Given the description of an element on the screen output the (x, y) to click on. 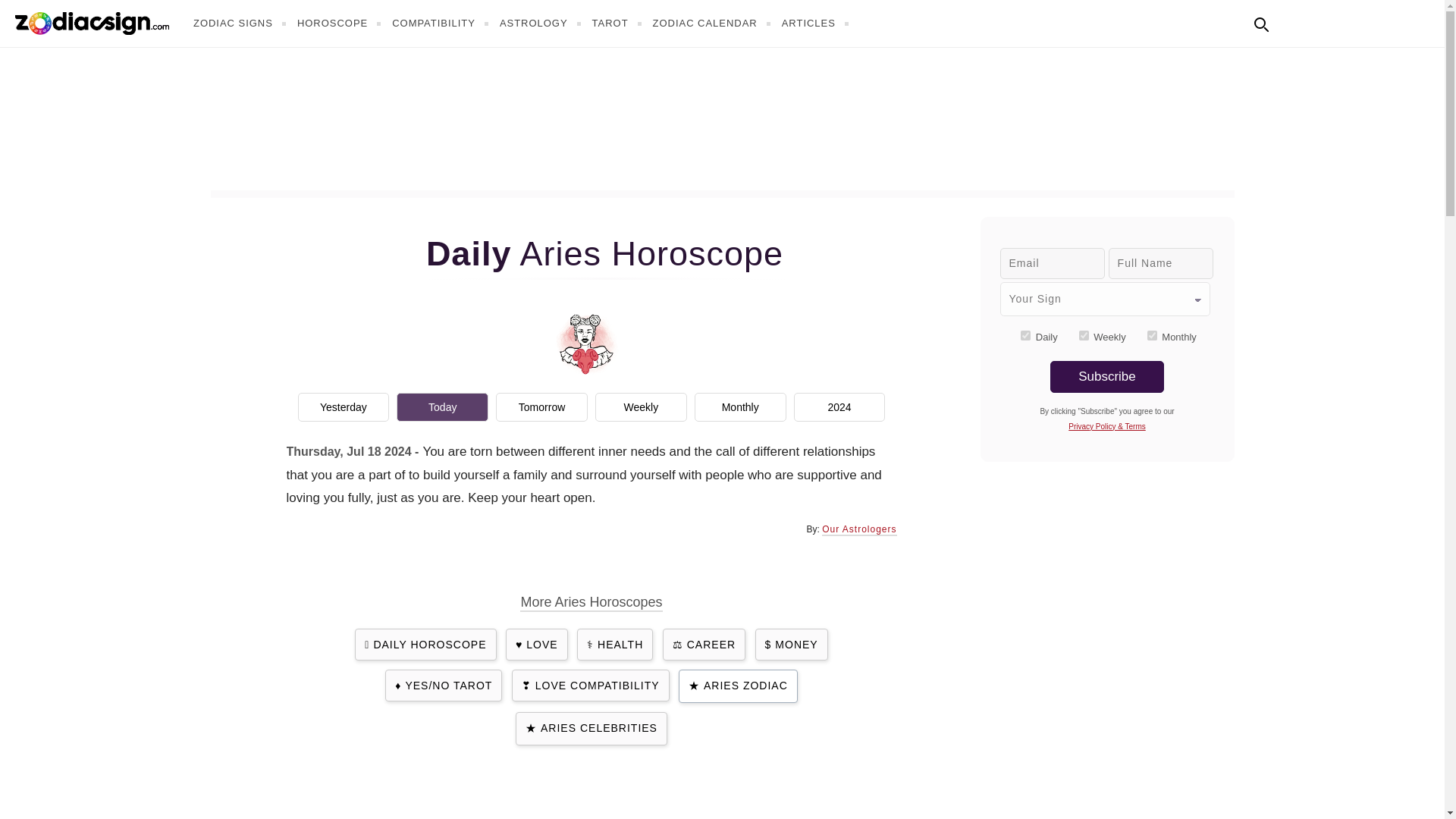
ZODIAC SIGNS (241, 23)
In English (1294, 21)
weekly (1083, 335)
monthly (1152, 335)
HOROSCOPE (341, 23)
daily (1025, 335)
